Given the description of an element on the screen output the (x, y) to click on. 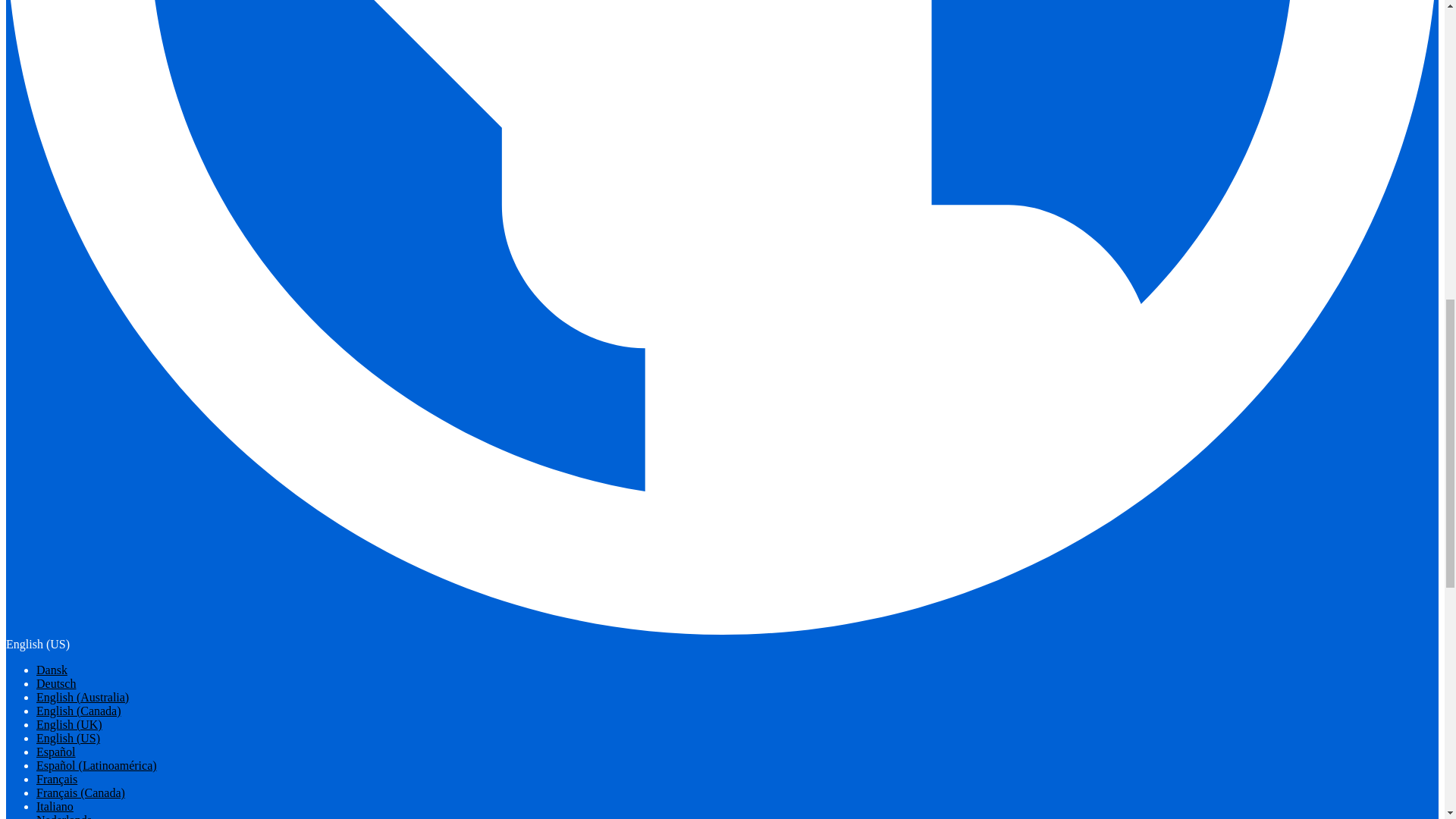
Deutsch (55, 683)
Dansk (51, 669)
Nederlands (63, 816)
Italiano (55, 806)
